Given the description of an element on the screen output the (x, y) to click on. 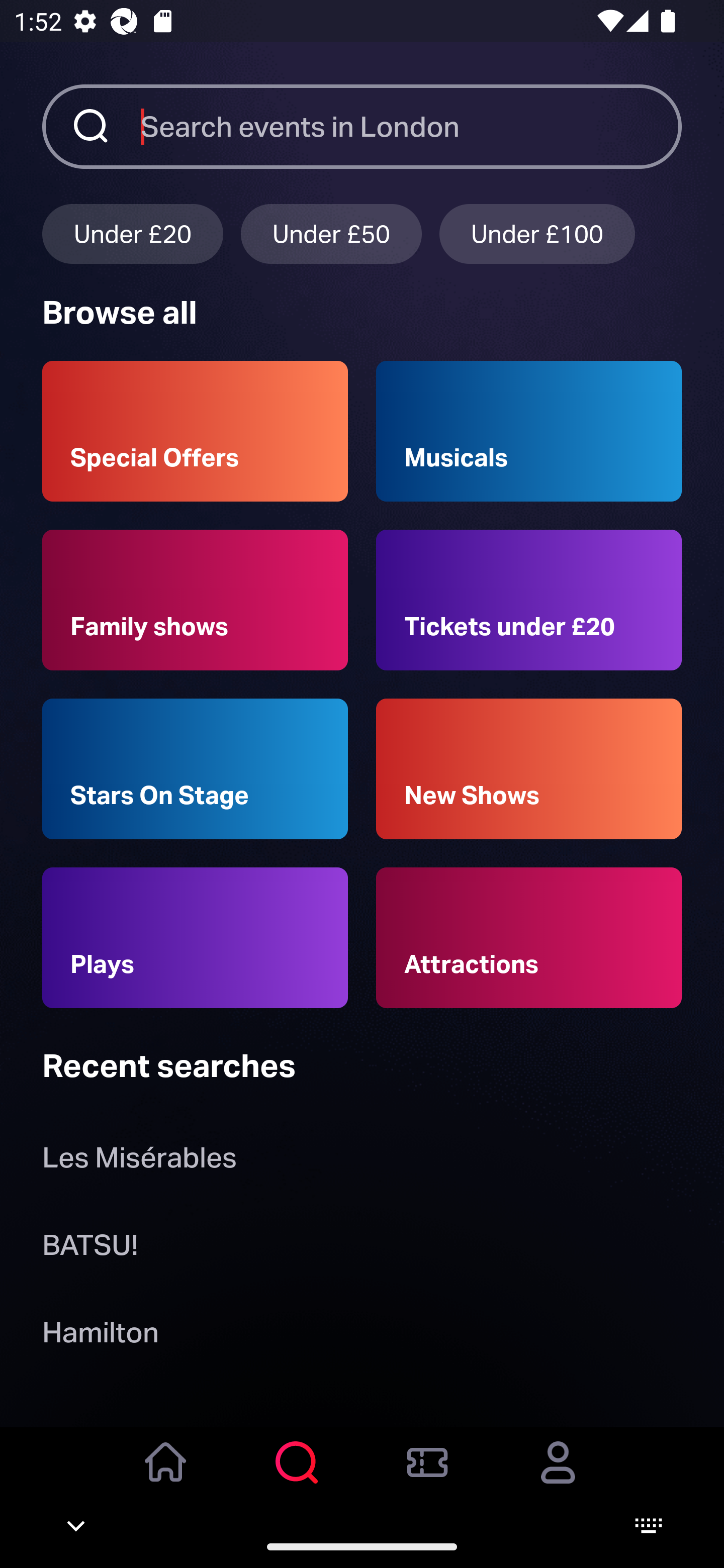
Search events in London (411, 126)
Under £20 (131, 233)
Under £50 (331, 233)
Under £100 (536, 233)
Special Offers (194, 430)
Musicals (528, 430)
Family shows (194, 600)
Tickets under £20  (528, 600)
Stars On Stage (194, 768)
New Shows (528, 768)
Plays (194, 937)
Attractions  (528, 937)
Les Misérables (138, 1161)
BATSU! (89, 1248)
Hamilton (99, 1335)
Home (165, 1475)
Orders (427, 1475)
Account (558, 1475)
